Given the description of an element on the screen output the (x, y) to click on. 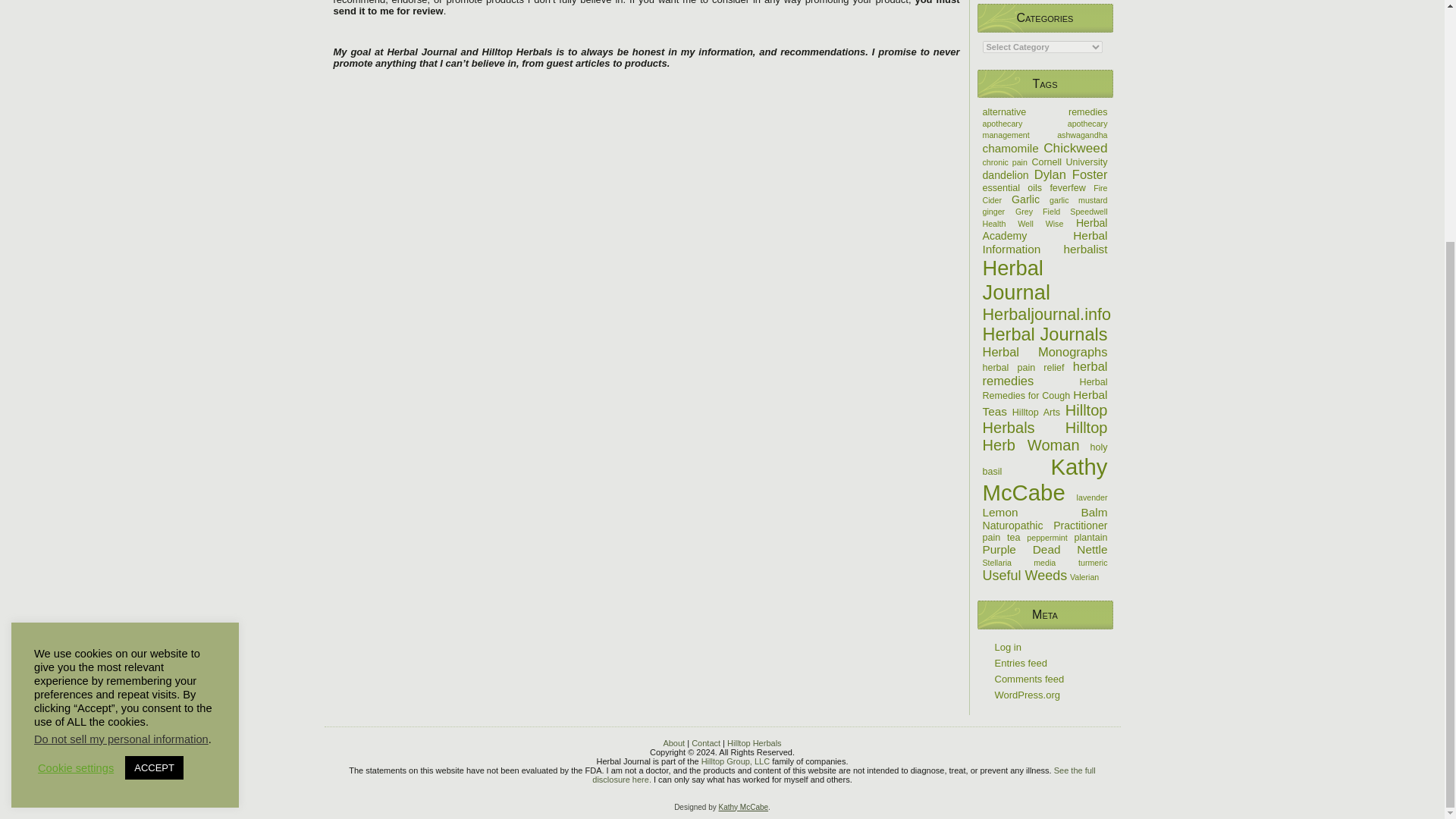
apothecary (1002, 122)
alternative remedies (1045, 112)
Grey Field Speedwell (1061, 211)
garlic mustard (1077, 199)
chamomile (1010, 147)
Fire Cider (1045, 193)
dandelion (1005, 174)
Herbal Information (1045, 242)
Garlic (1025, 199)
Dylan Foster (1070, 173)
